Given the description of an element on the screen output the (x, y) to click on. 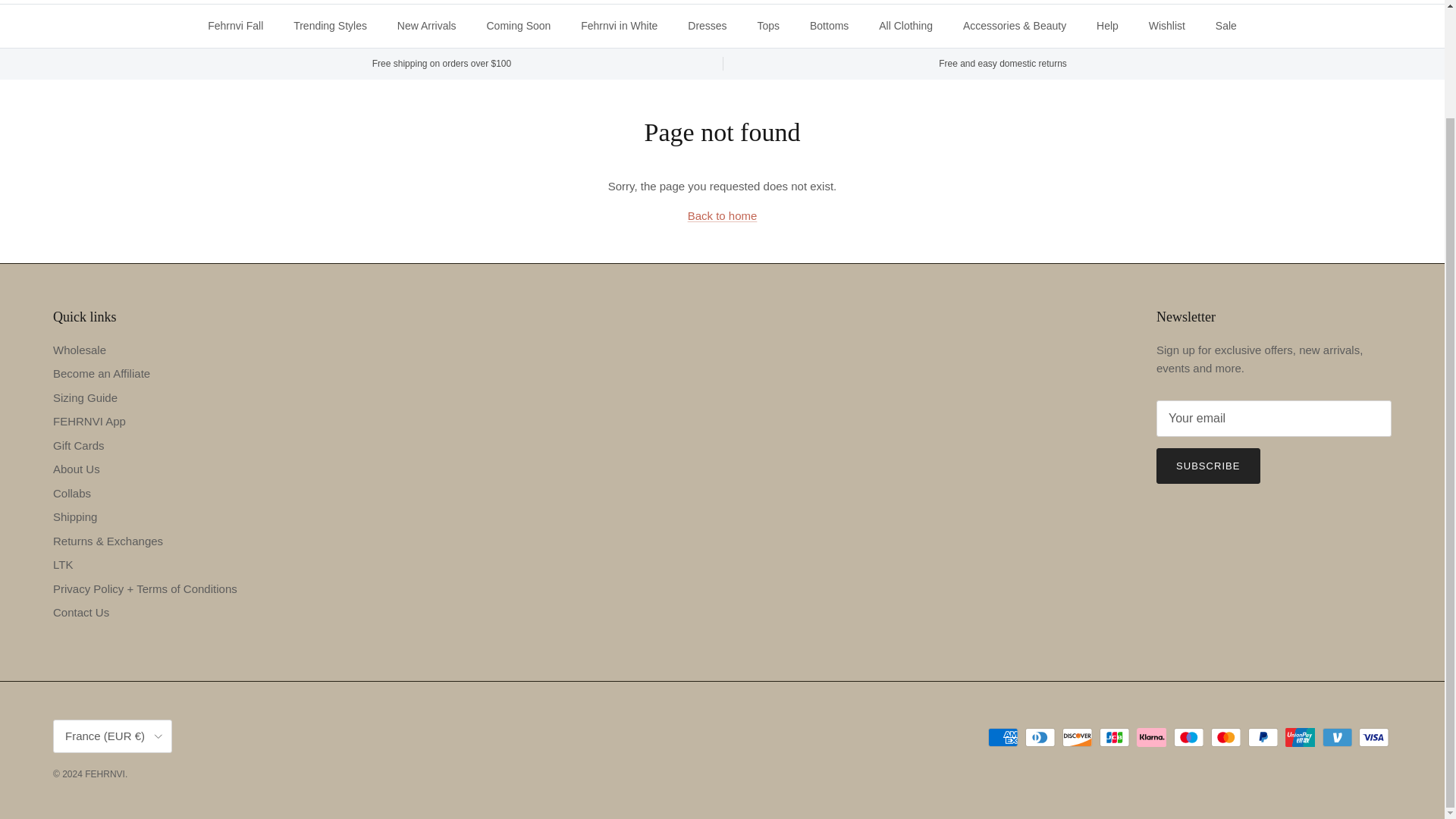
Tops (768, 25)
Trending Styles (329, 25)
Fehrnvi in White (619, 25)
PayPal (1262, 737)
Maestro (1188, 737)
New Arrivals (427, 25)
Discover (1077, 737)
Coming Soon (518, 25)
Fehrnvi Fall (234, 25)
JCB (1114, 737)
